Given the description of an element on the screen output the (x, y) to click on. 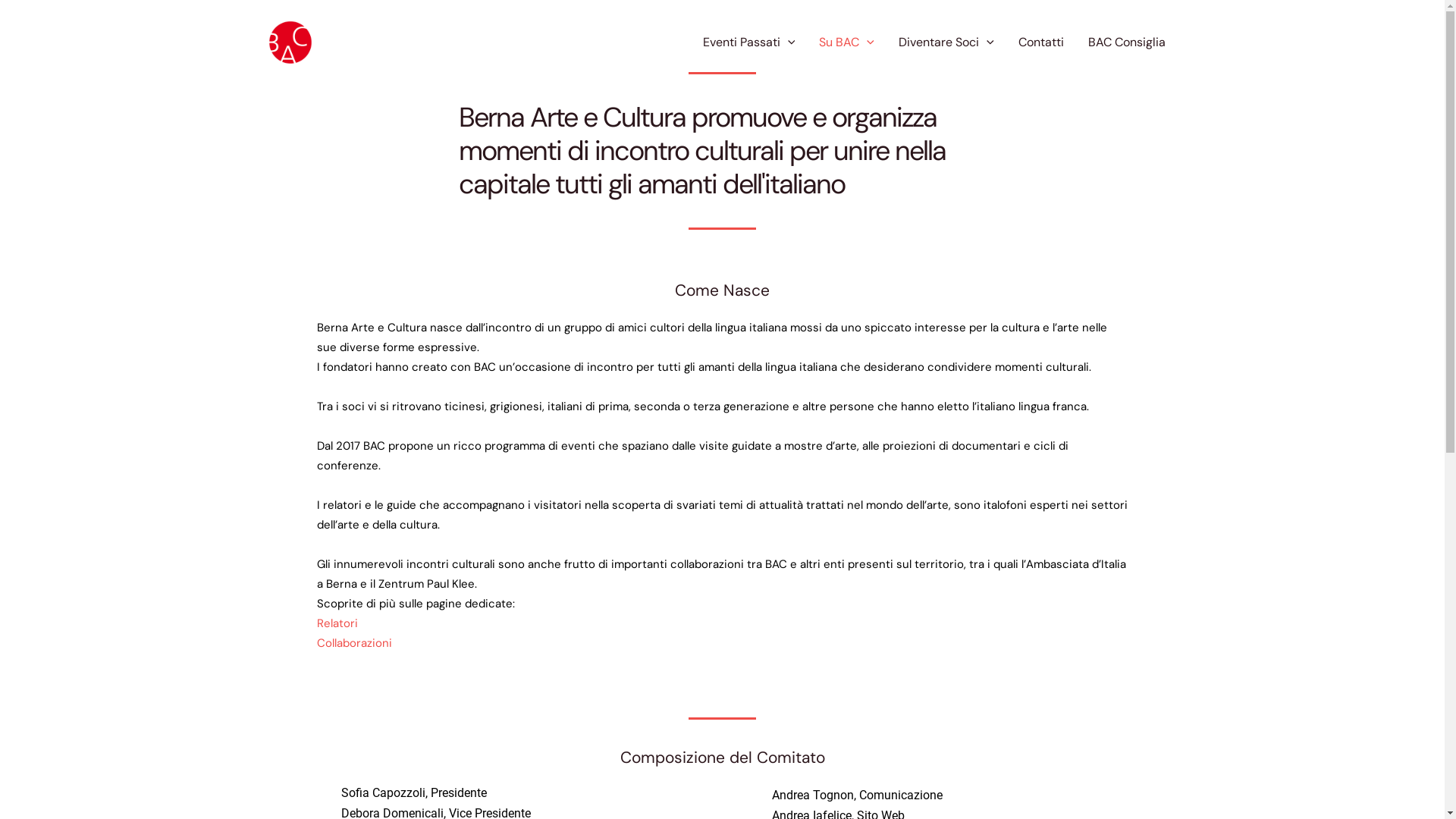
BAC Consiglia Element type: text (1125, 42)
Collaborazioni Element type: text (354, 642)
Diventare Soci Element type: text (946, 42)
Contatti Element type: text (1040, 42)
Relatori Element type: text (336, 622)
Eventi Passati Element type: text (748, 42)
Su BAC Element type: text (846, 42)
